Given the description of an element on the screen output the (x, y) to click on. 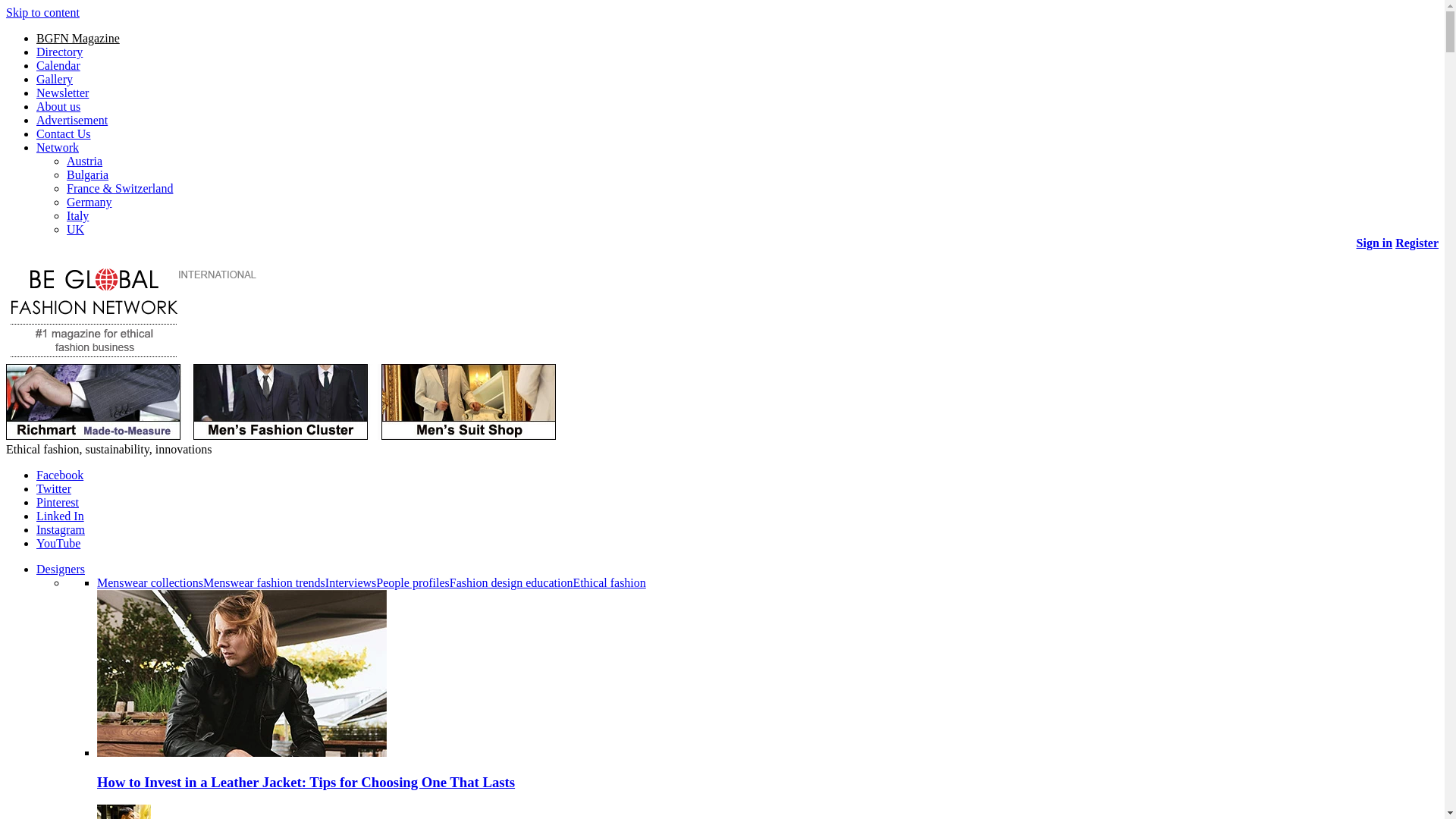
Sign in (1374, 242)
Italy (77, 215)
Interviews (350, 582)
Contact Us (63, 133)
Instagram (60, 529)
Skip to content (42, 11)
Austria (83, 160)
Linked In (60, 515)
About us (58, 106)
Gallery (54, 78)
Twitter (53, 488)
Ethical fashion (608, 582)
People profiles (411, 582)
Menswear fashion trends (263, 582)
Network (57, 146)
